Given the description of an element on the screen output the (x, y) to click on. 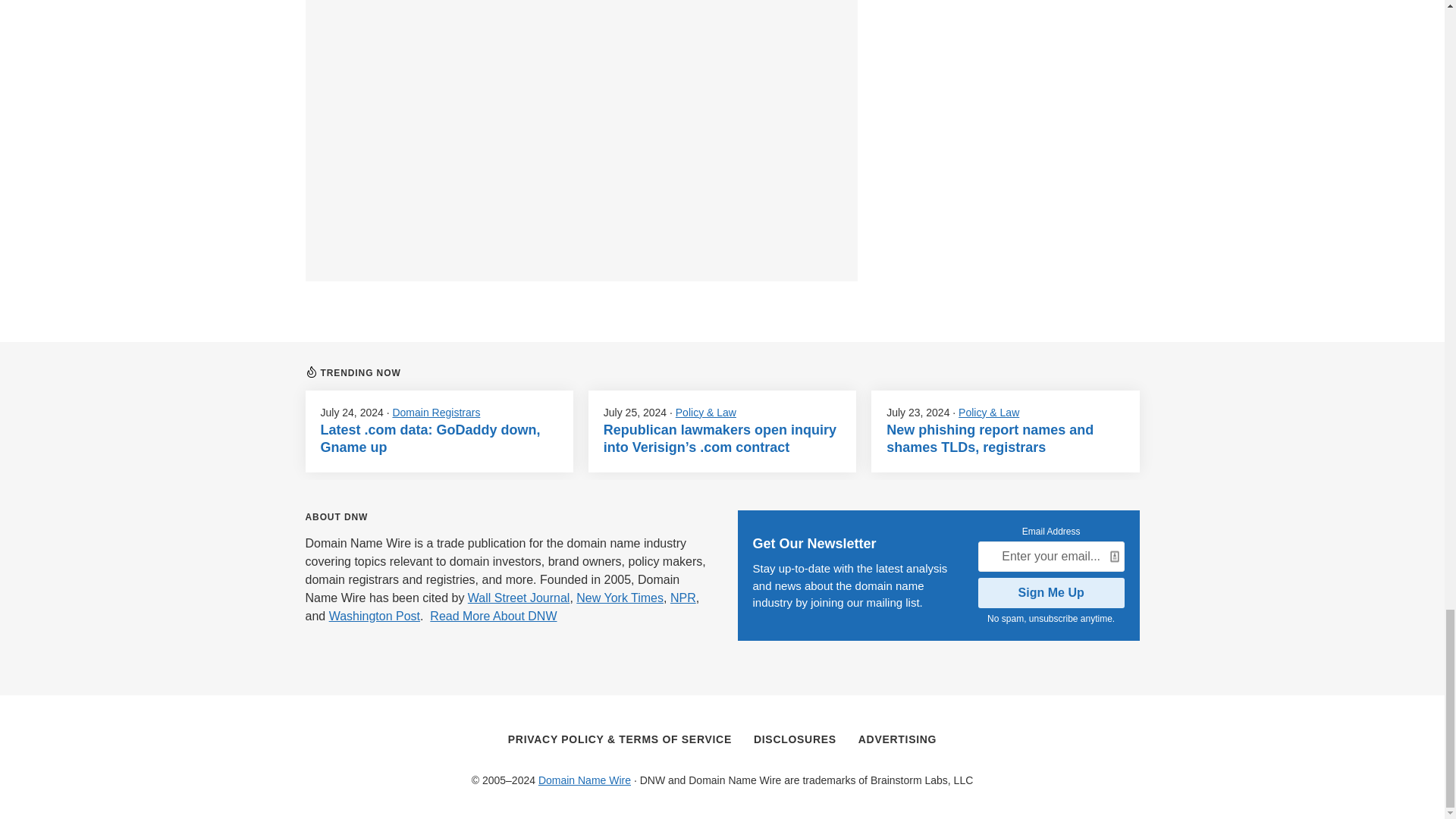
Sign Me Up (1051, 593)
